Given the description of an element on the screen output the (x, y) to click on. 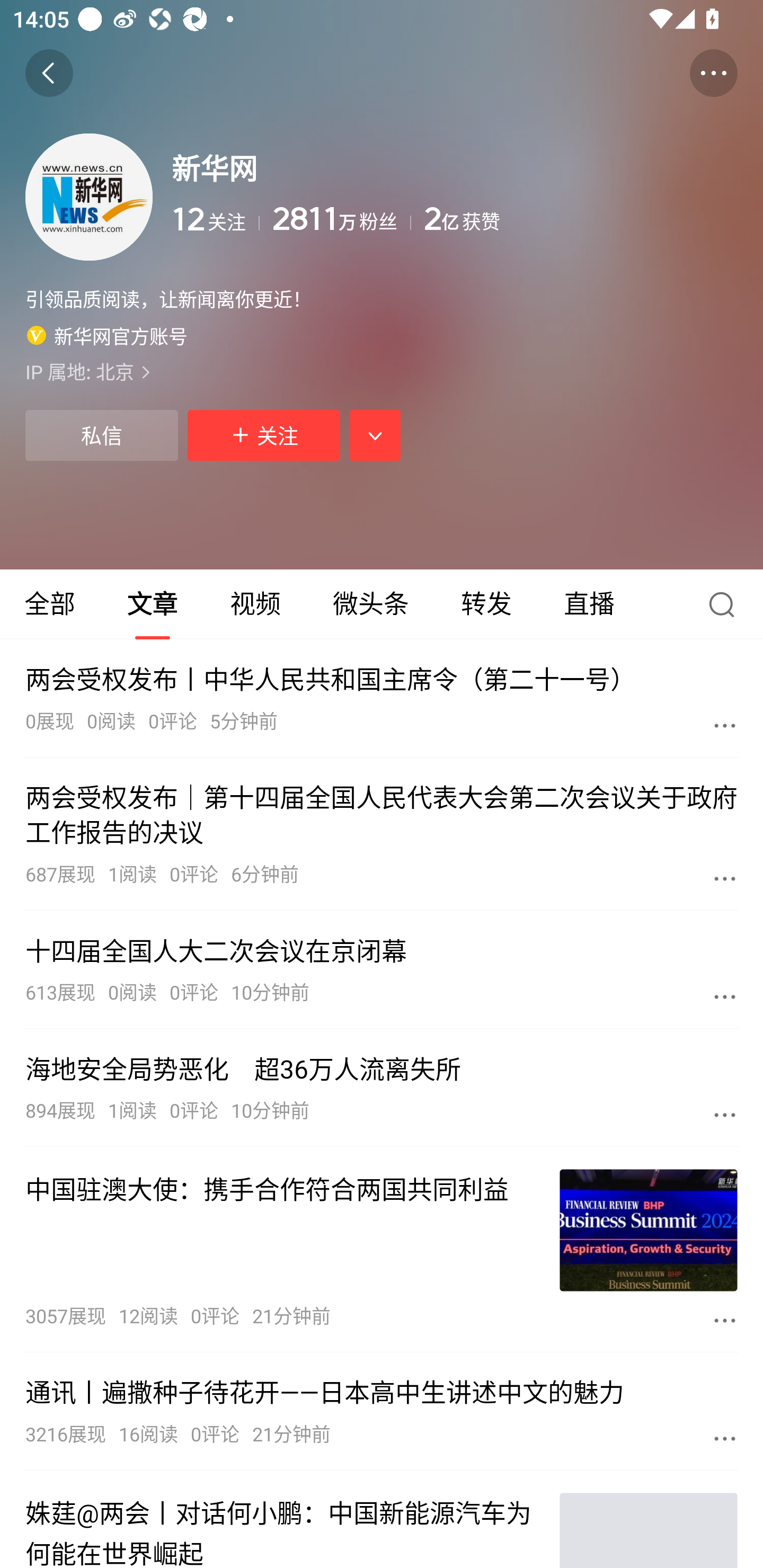
返回 (49, 72)
更多操作 (713, 72)
头像 (88, 196)
12 关注 (215, 219)
2811万 粉丝 (341, 219)
2亿 获赞 (580, 219)
新华网官方账号 (106, 335)
IP 属地: 北京 (381, 371)
私信 (101, 434)
     关注 (263, 434)
展开相关推荐，按钮 (374, 434)
全部 (50, 604)
文章 (152, 604)
视频 (254, 604)
微头条 (370, 604)
转发 (485, 604)
直播 (588, 604)
搜索 (726, 604)
更多 (724, 724)
更多 (724, 877)
更多 (724, 996)
更多 (724, 1114)
更多 (724, 1319)
更多 (724, 1437)
